Given the description of an element on the screen output the (x, y) to click on. 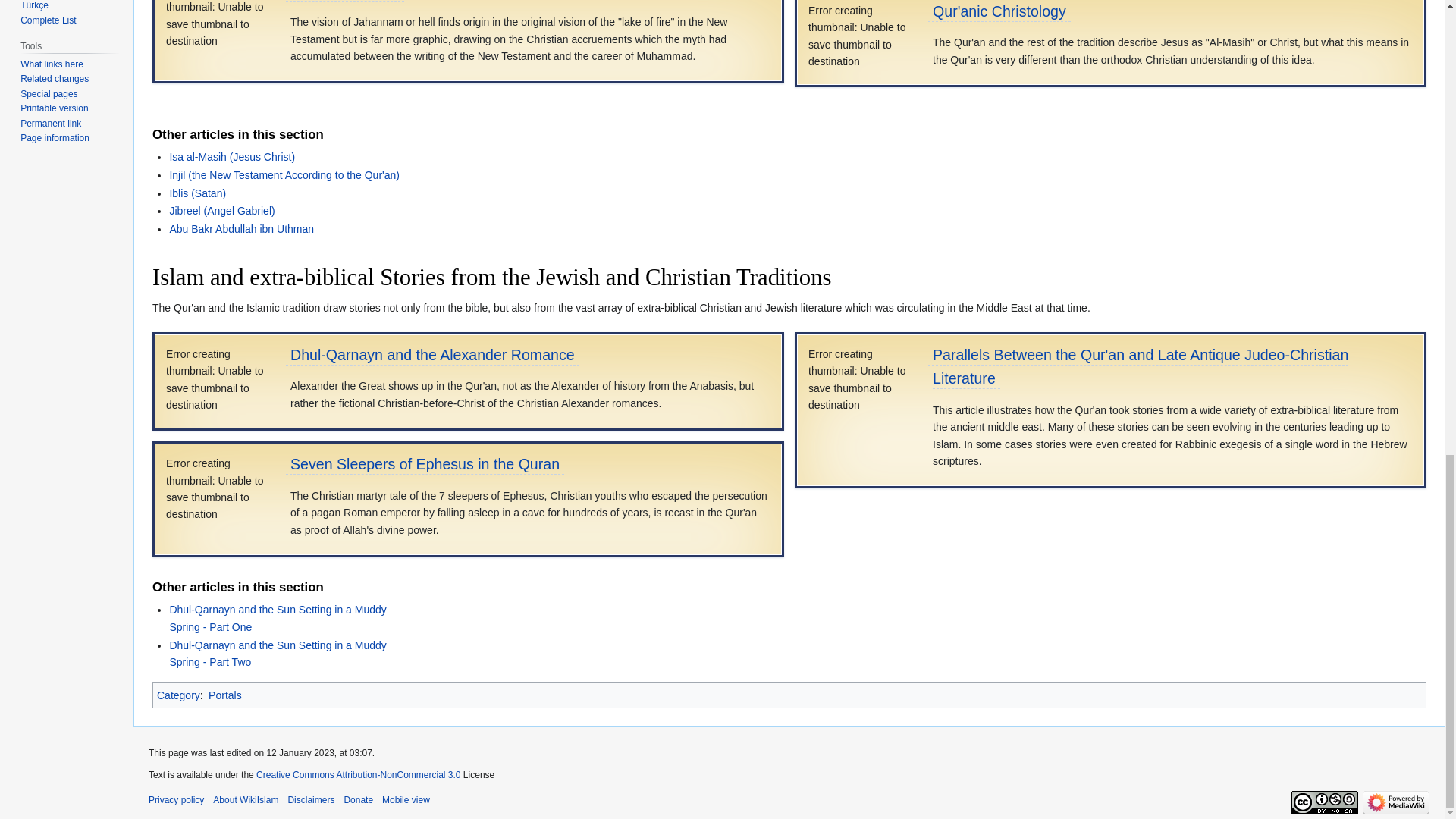
Dhul-Qarnayn and the Alexander Romance (432, 354)
Abu Bakr Abdullah ibn Uthman (241, 228)
Portals (224, 695)
Qur'anic Christology (999, 11)
Category (178, 695)
Seven Sleepers of Ephesus in the Quran (424, 463)
Qur'anic Christology (999, 11)
